Given the description of an element on the screen output the (x, y) to click on. 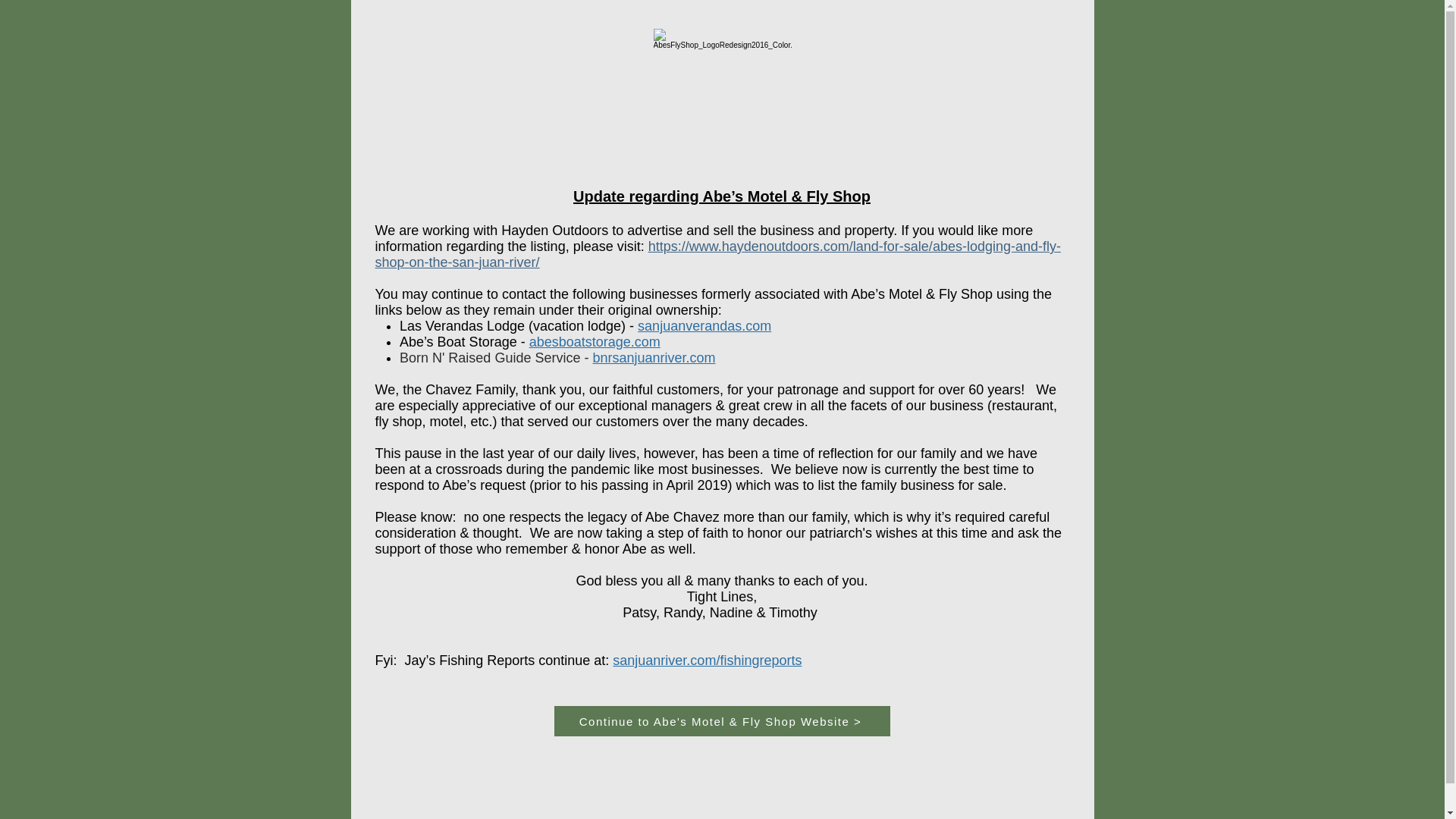
uanverandas.com (716, 325)
sanj (649, 325)
bnrsanjuanriver.com (653, 357)
abesboatstorage.com (595, 341)
